Given the description of an element on the screen output the (x, y) to click on. 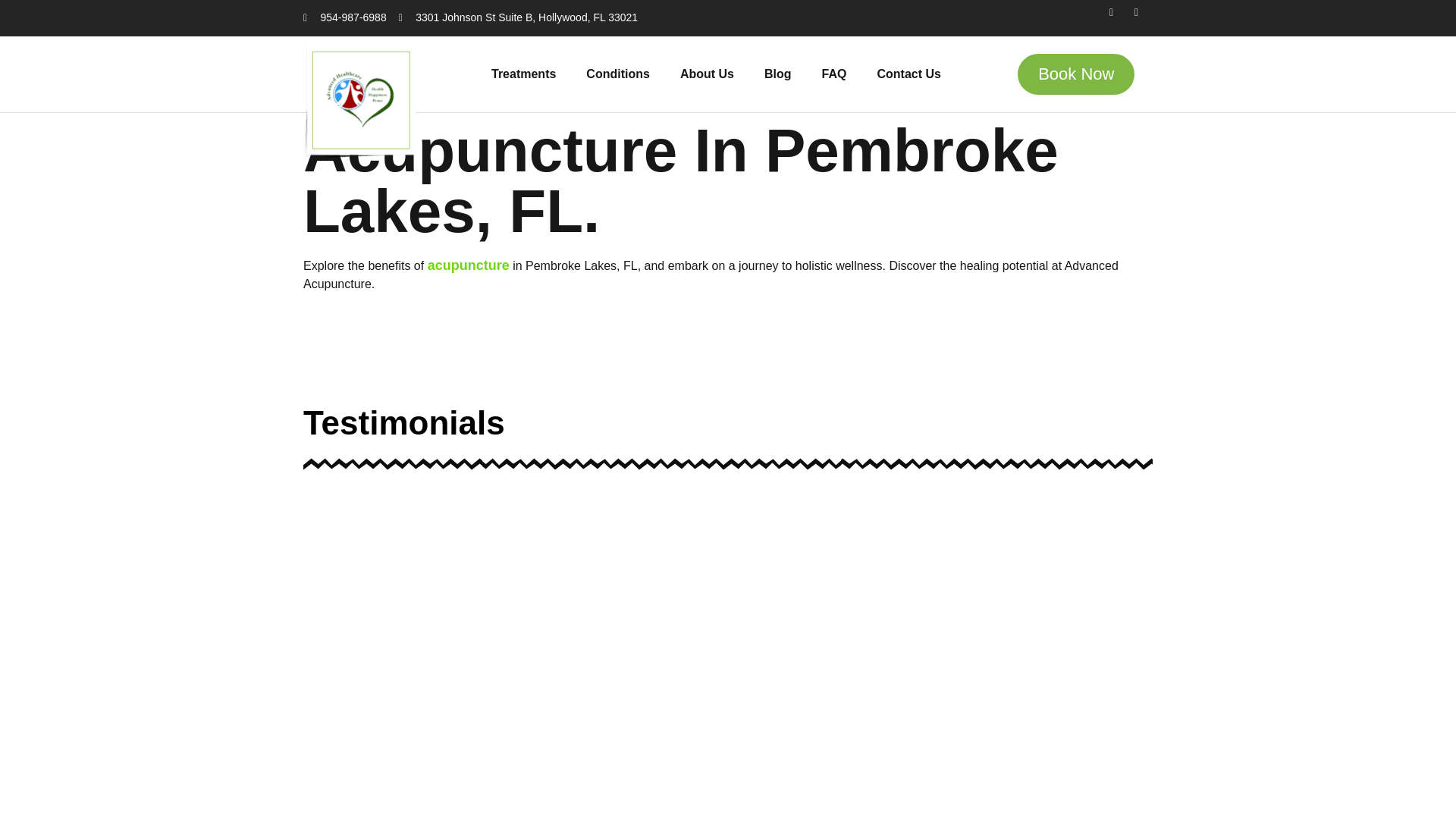
Blog (777, 73)
Treatments (523, 73)
Conditions (617, 73)
About Us (707, 73)
Acupuncture (468, 264)
3301 Johnson St Suite B, Hollywood, FL 33021 (517, 18)
954-987-6988 (344, 18)
